Given the description of an element on the screen output the (x, y) to click on. 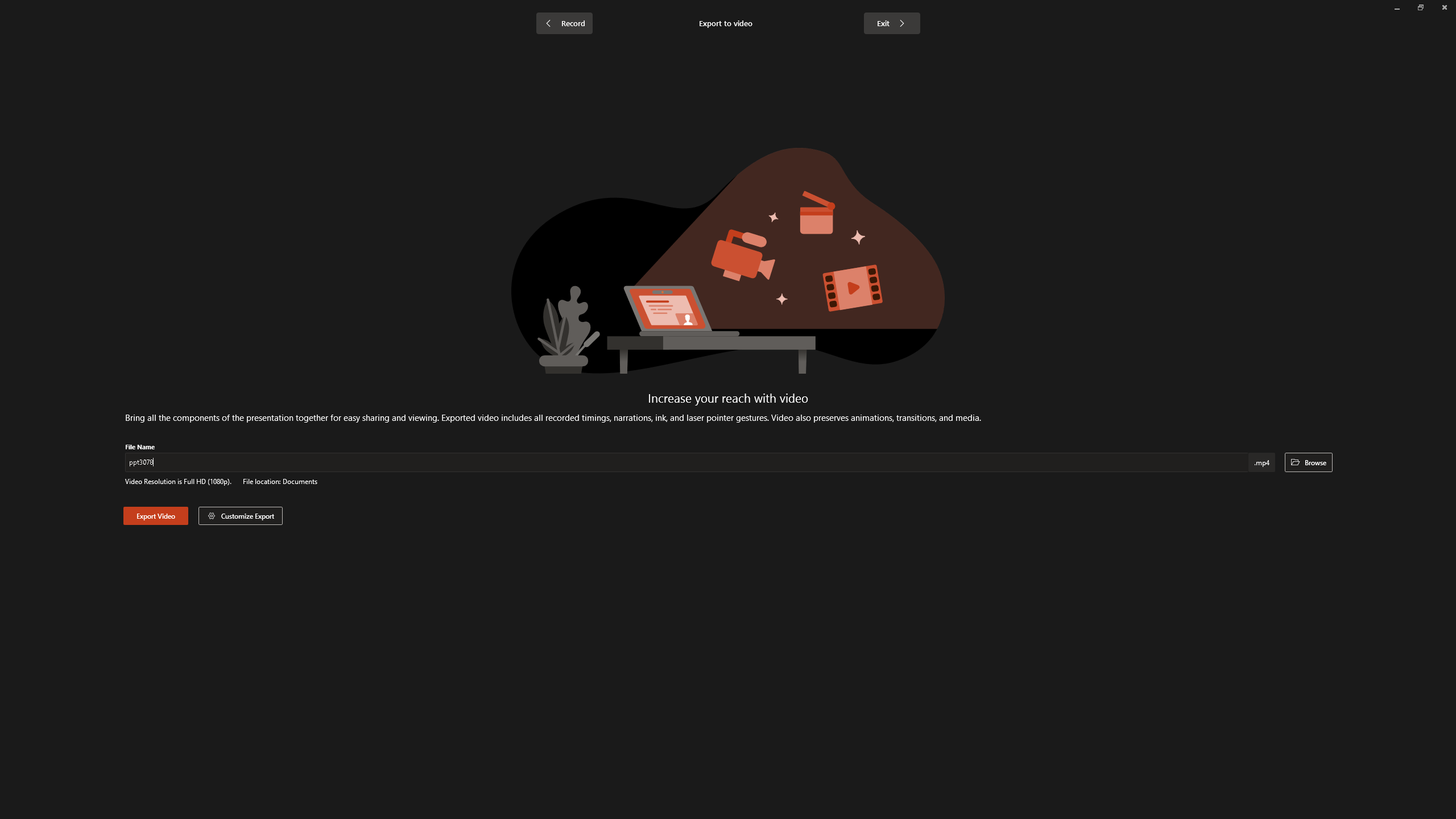
Screen Recording (165, 58)
